Given the description of an element on the screen output the (x, y) to click on. 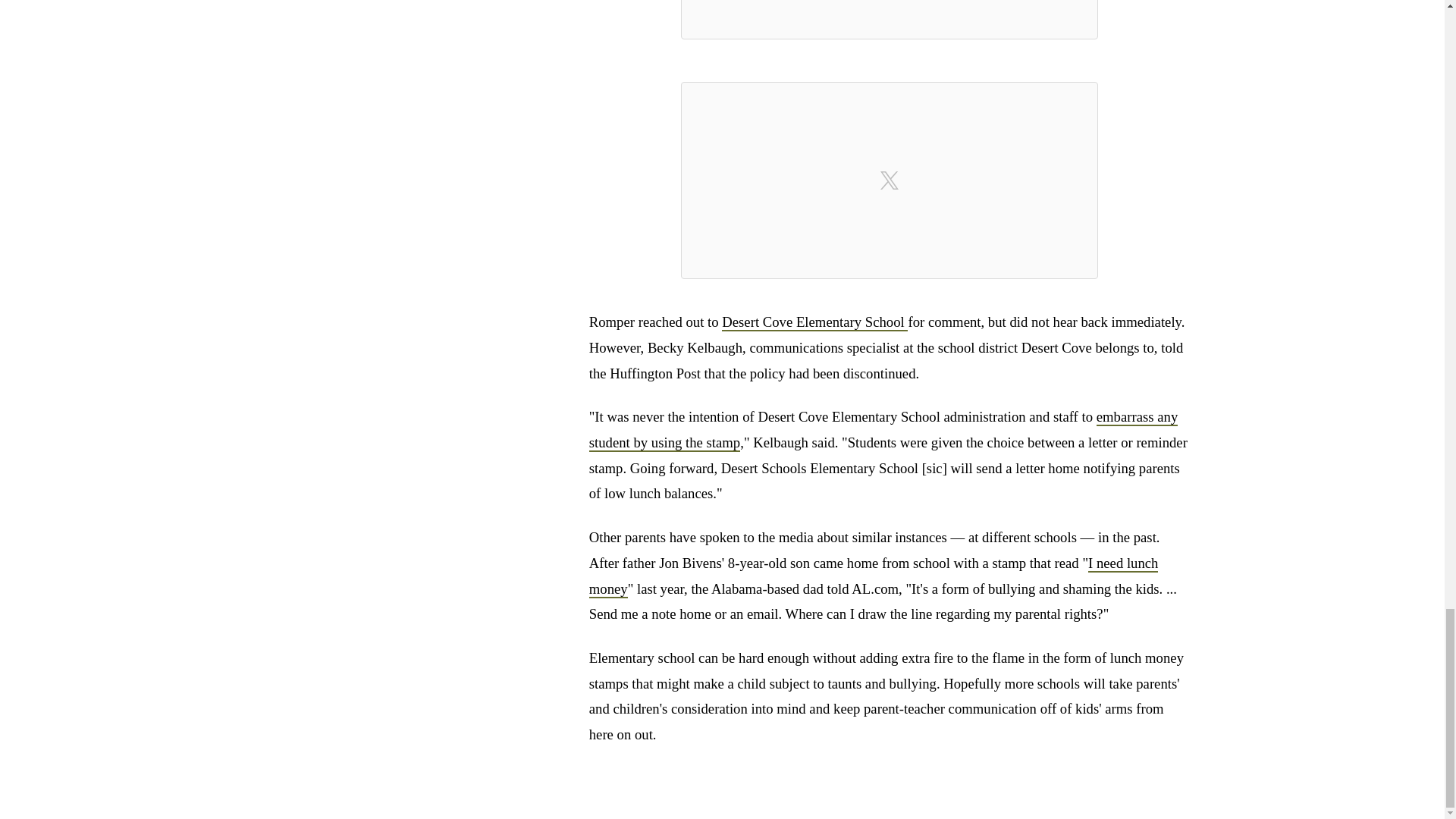
Desert Cove Elementary School (814, 322)
I need lunch money (873, 576)
embarrass any student by using the stamp (883, 430)
